Given the description of an element on the screen output the (x, y) to click on. 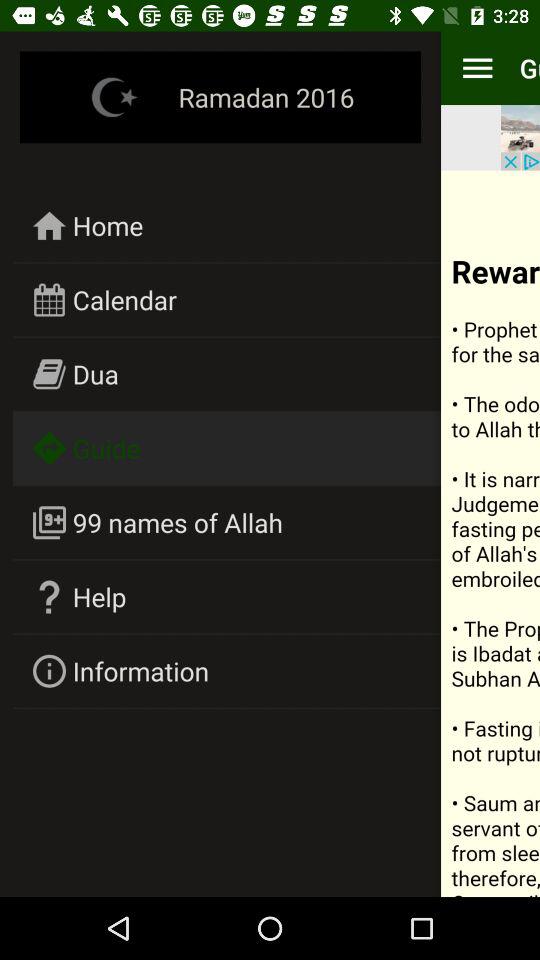
flip until the 99 names of item (177, 522)
